Given the description of an element on the screen output the (x, y) to click on. 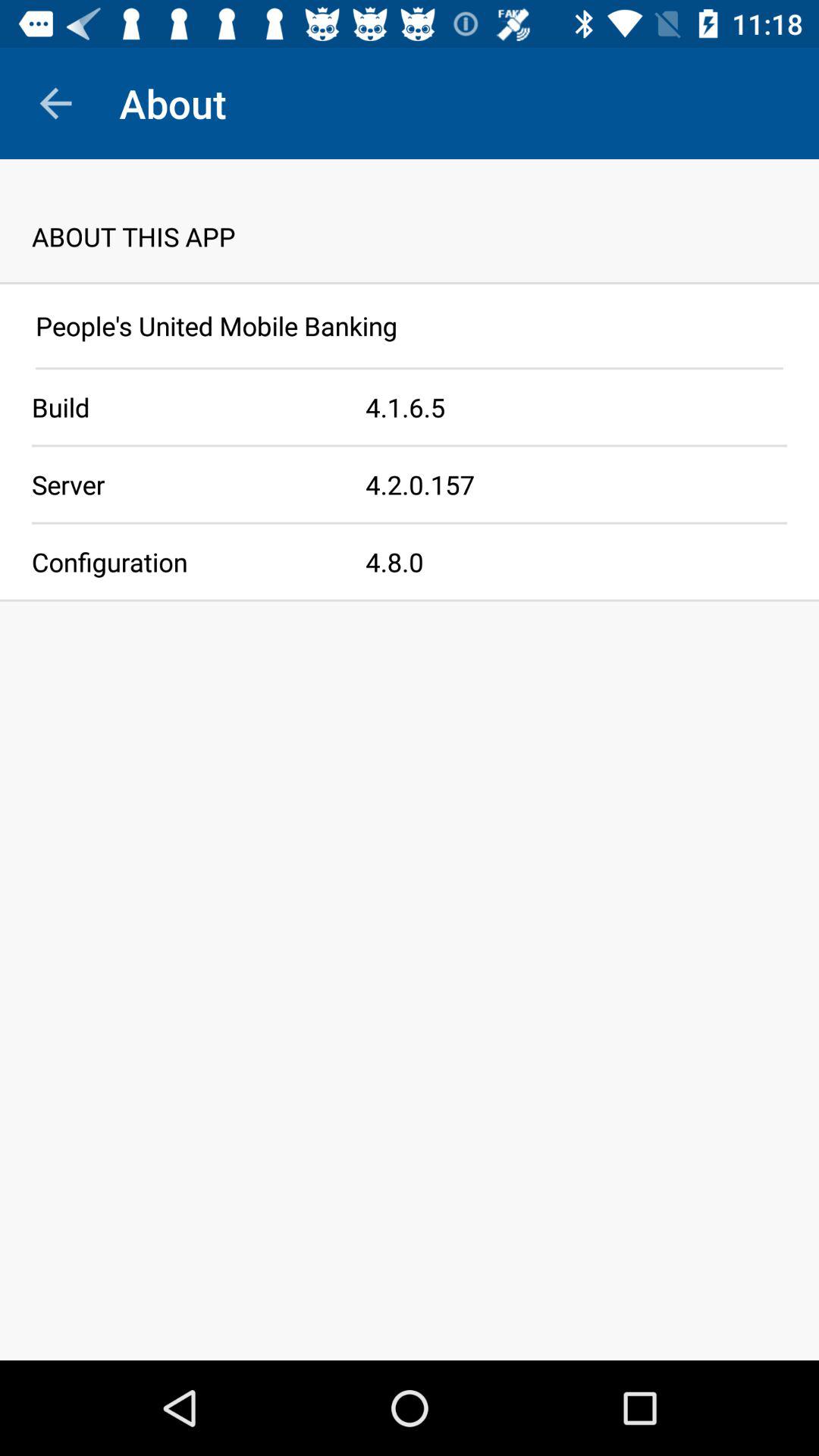
tap icon to the left of about (55, 103)
